Given the description of an element on the screen output the (x, y) to click on. 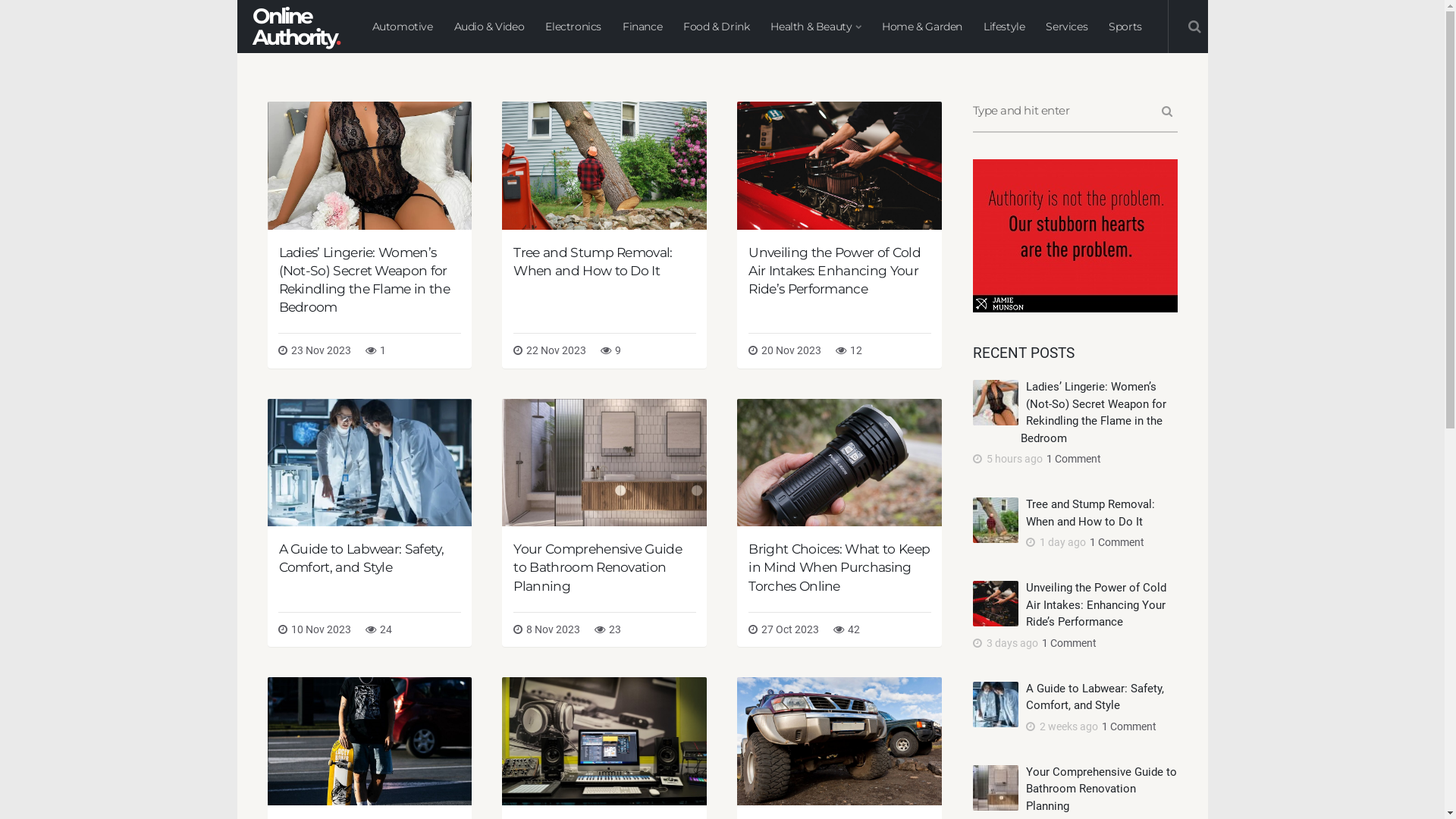
Tree and Stump Removal: When and How to Do It Element type: text (1089, 512)
Automotive Element type: text (401, 26)
Home & Garden Element type: text (921, 26)
Electronics Element type: text (573, 26)
Your Comprehensive Guide to Bathroom Renovation Planning Element type: text (596, 566)
A Guide to Labwear: Safety, Comfort, and Style Element type: text (361, 557)
1 Comment Element type: text (1067, 643)
1 Comment Element type: text (1127, 726)
Food & Drink Element type: text (716, 26)
A Guide to Labwear: Safety, Comfort, and Style Element type: text (1094, 696)
Online Authority. Element type: text (294, 26)
Audio & Video Element type: text (488, 26)
1 Comment Element type: text (1114, 542)
Lifestyle Element type: text (1003, 26)
Finance Element type: text (642, 26)
Services Element type: text (1066, 26)
Sports Element type: text (1125, 26)
Your Comprehensive Guide to Bathroom Renovation Planning Element type: text (1100, 788)
1 Comment Element type: text (1071, 458)
Health & Beauty Element type: text (815, 26)
Tree and Stump Removal: When and How to Do It Element type: text (592, 261)
